Given the description of an element on the screen output the (x, y) to click on. 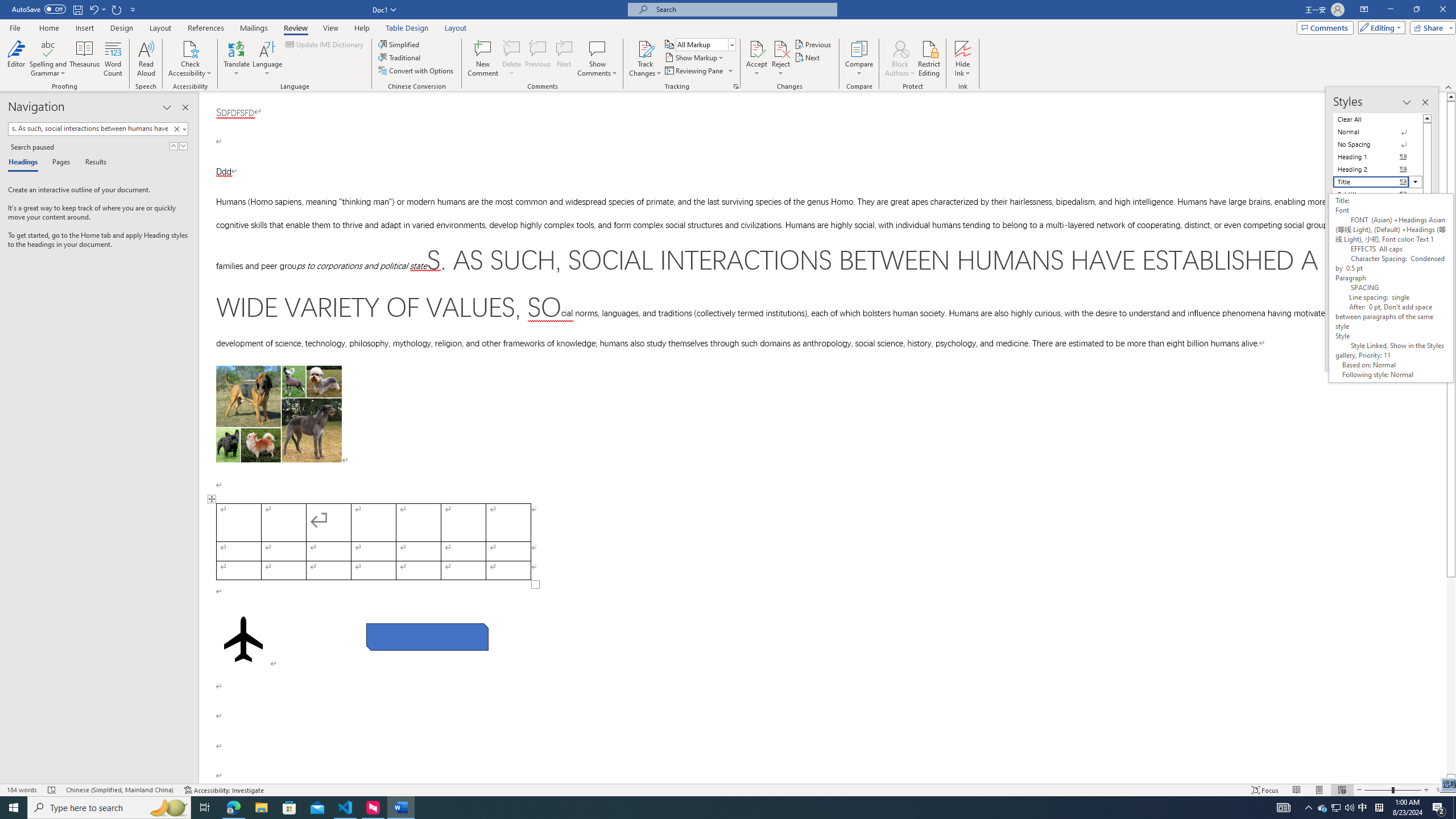
Clear All (1377, 119)
Translate (236, 58)
Word Count (113, 58)
Hide Ink (962, 58)
Previous (813, 44)
Disable Linked Styles (1370, 340)
Show Preview (1360, 328)
New Comment (482, 58)
